Given the description of an element on the screen output the (x, y) to click on. 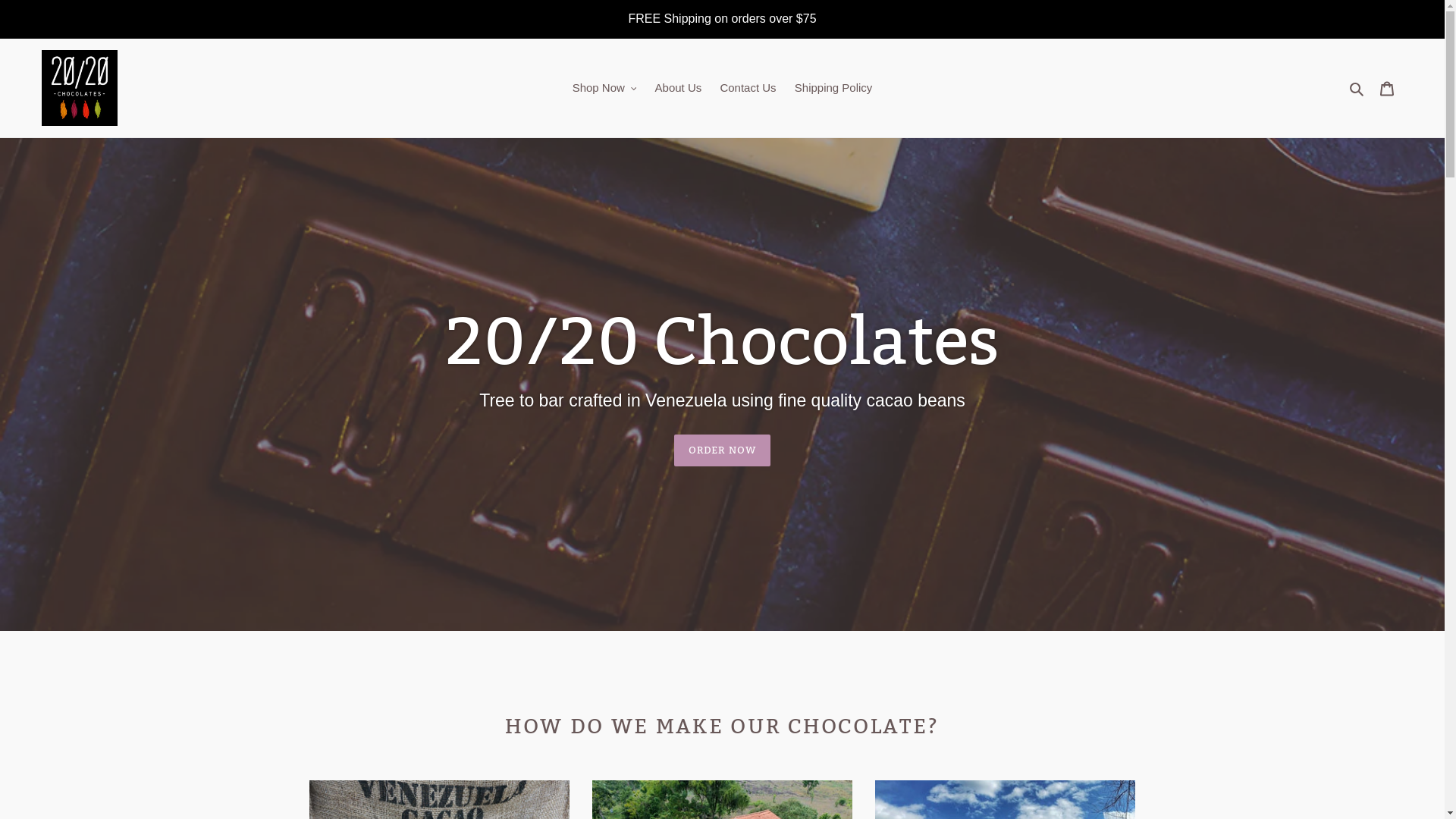
Contact Us Element type: text (747, 88)
About Us Element type: text (678, 88)
ORDER NOW Element type: text (721, 450)
Shipping Policy Element type: text (833, 88)
Cart Element type: text (1386, 88)
FREE Shipping on orders over $75 Element type: text (722, 18)
Search Element type: text (1357, 87)
Shop Now Element type: text (604, 88)
